Given the description of an element on the screen output the (x, y) to click on. 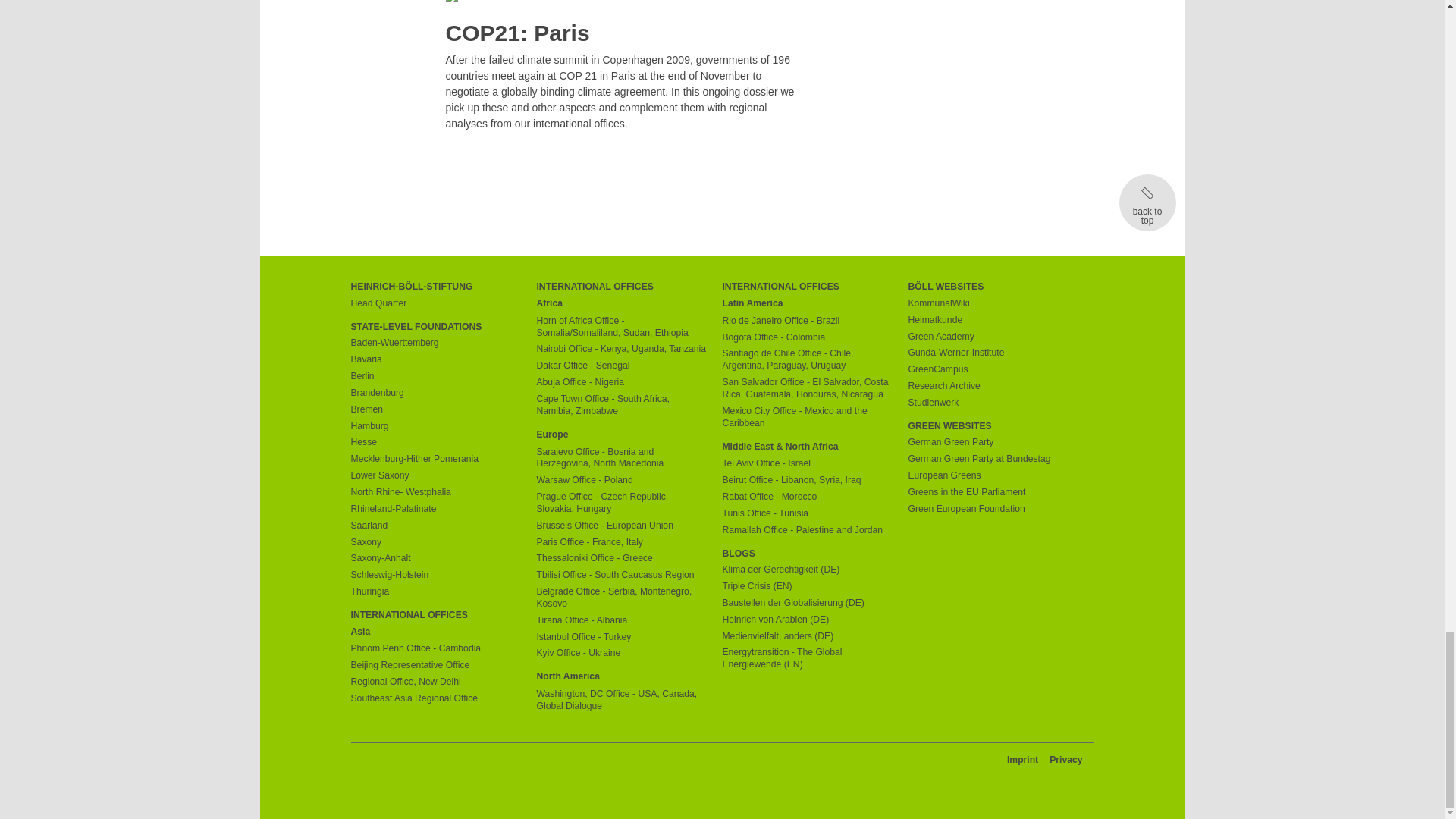
Bavaria (435, 359)
Baden-Wuerttemberg (435, 343)
Berlin (435, 377)
Head Quarter (435, 304)
